Given the description of an element on the screen output the (x, y) to click on. 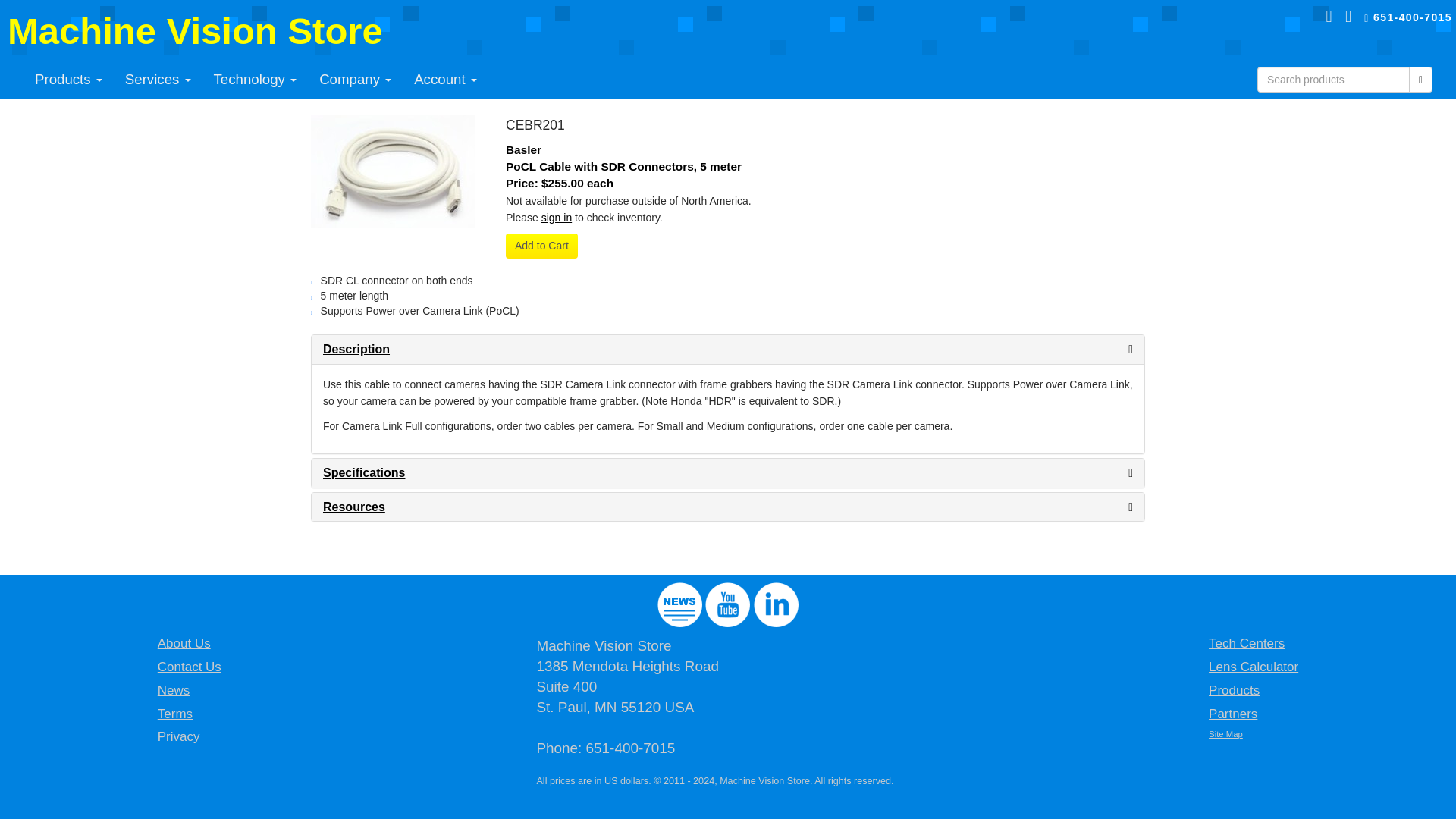
Technology (255, 79)
Services (157, 79)
Products (68, 79)
Machine Vision Store (194, 30)
